Given the description of an element on the screen output the (x, y) to click on. 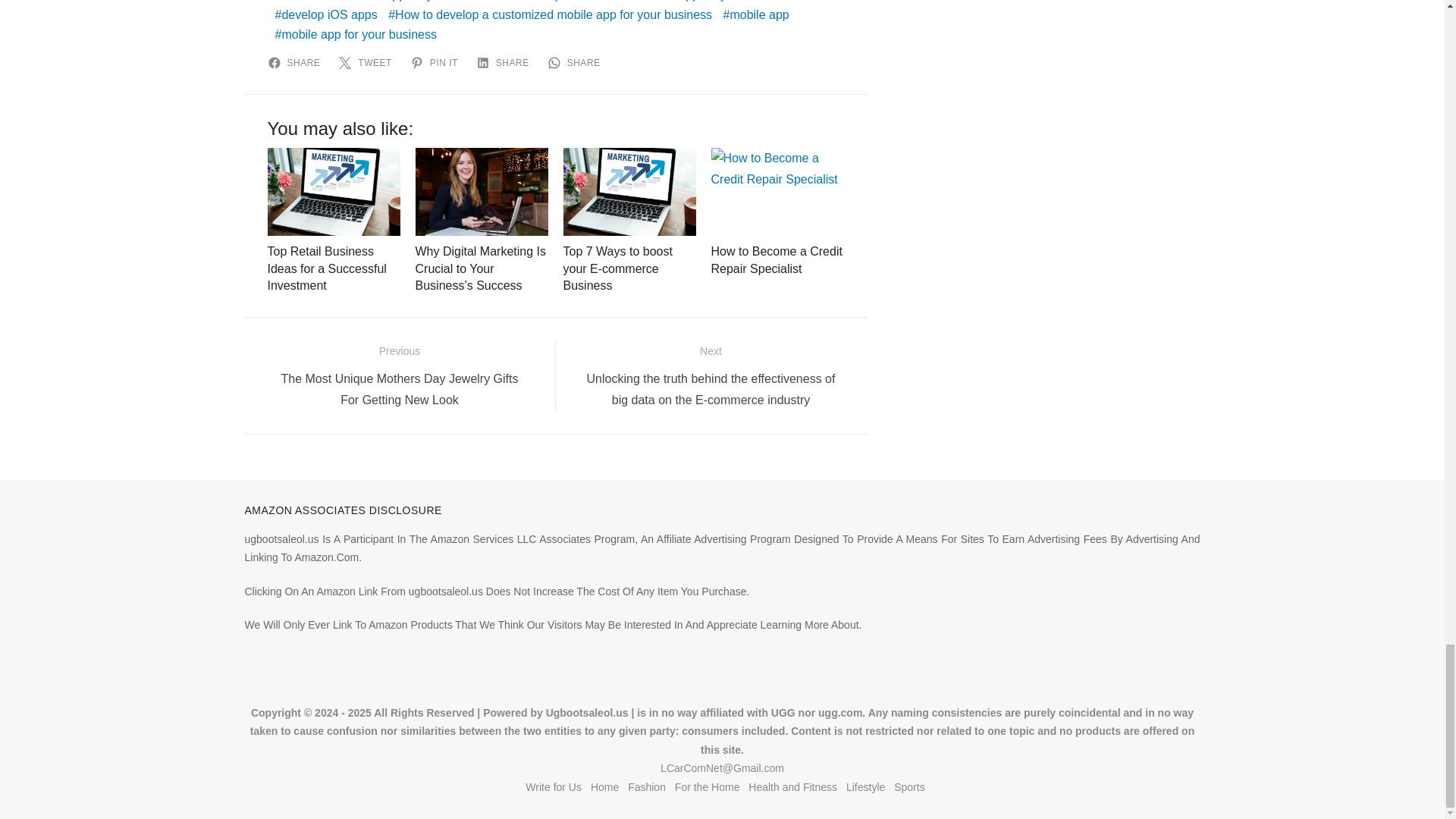
Share on Twitter (367, 62)
Share on LinkedIn (505, 62)
Share on Pinterest (437, 62)
Share on WhatsApp (577, 62)
Share on Facebook (296, 62)
